Given the description of an element on the screen output the (x, y) to click on. 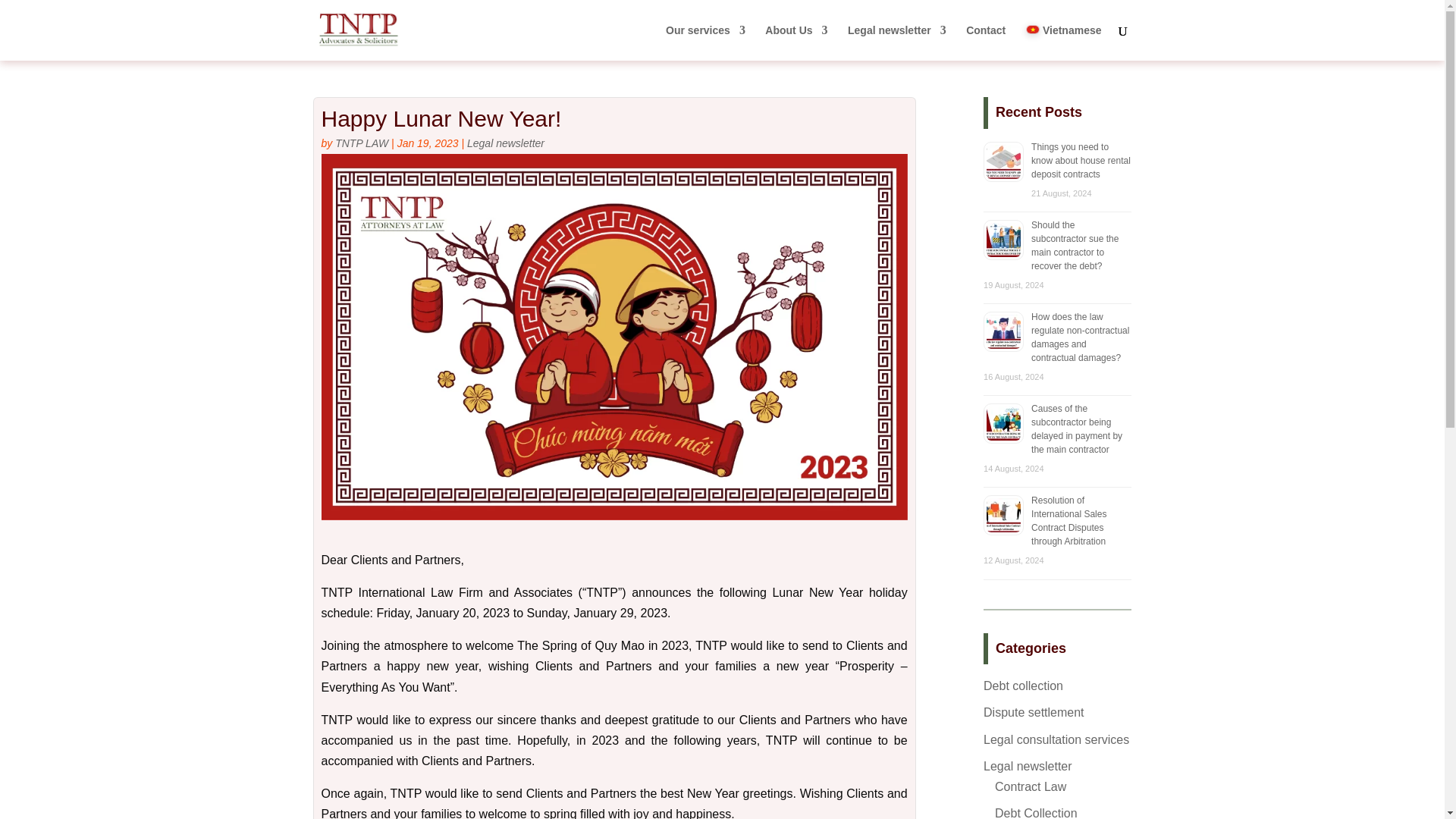
Our services (705, 42)
Posts by TNTP LAW (361, 143)
Contact (986, 42)
About Us (796, 42)
Legal newsletter (896, 42)
Vietnamese (1064, 42)
